Given the description of an element on the screen output the (x, y) to click on. 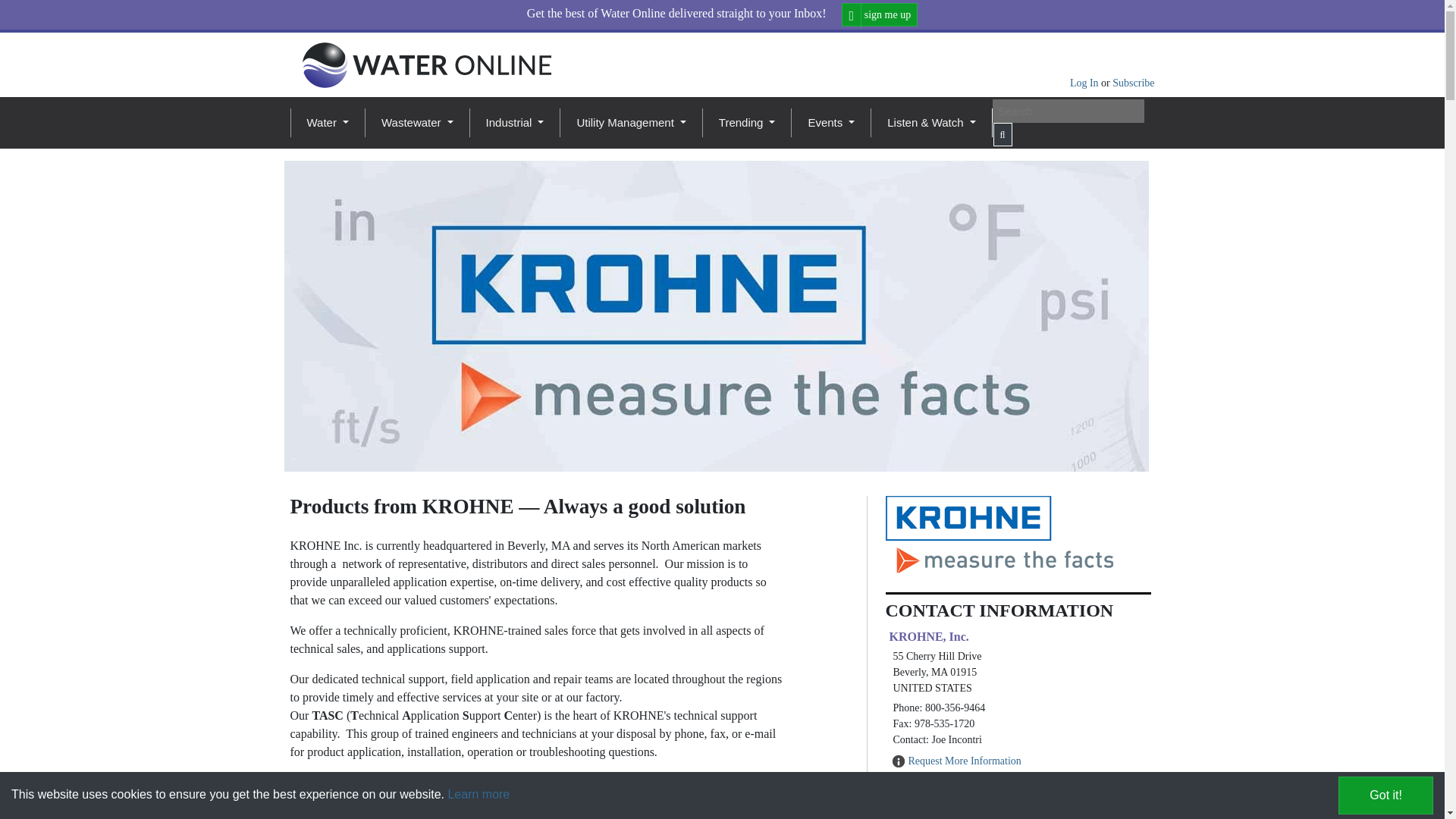
Subscribe (1133, 82)
sign me up (879, 14)
Wastewater (417, 123)
Log In (1085, 82)
Water (326, 123)
